Given the description of an element on the screen output the (x, y) to click on. 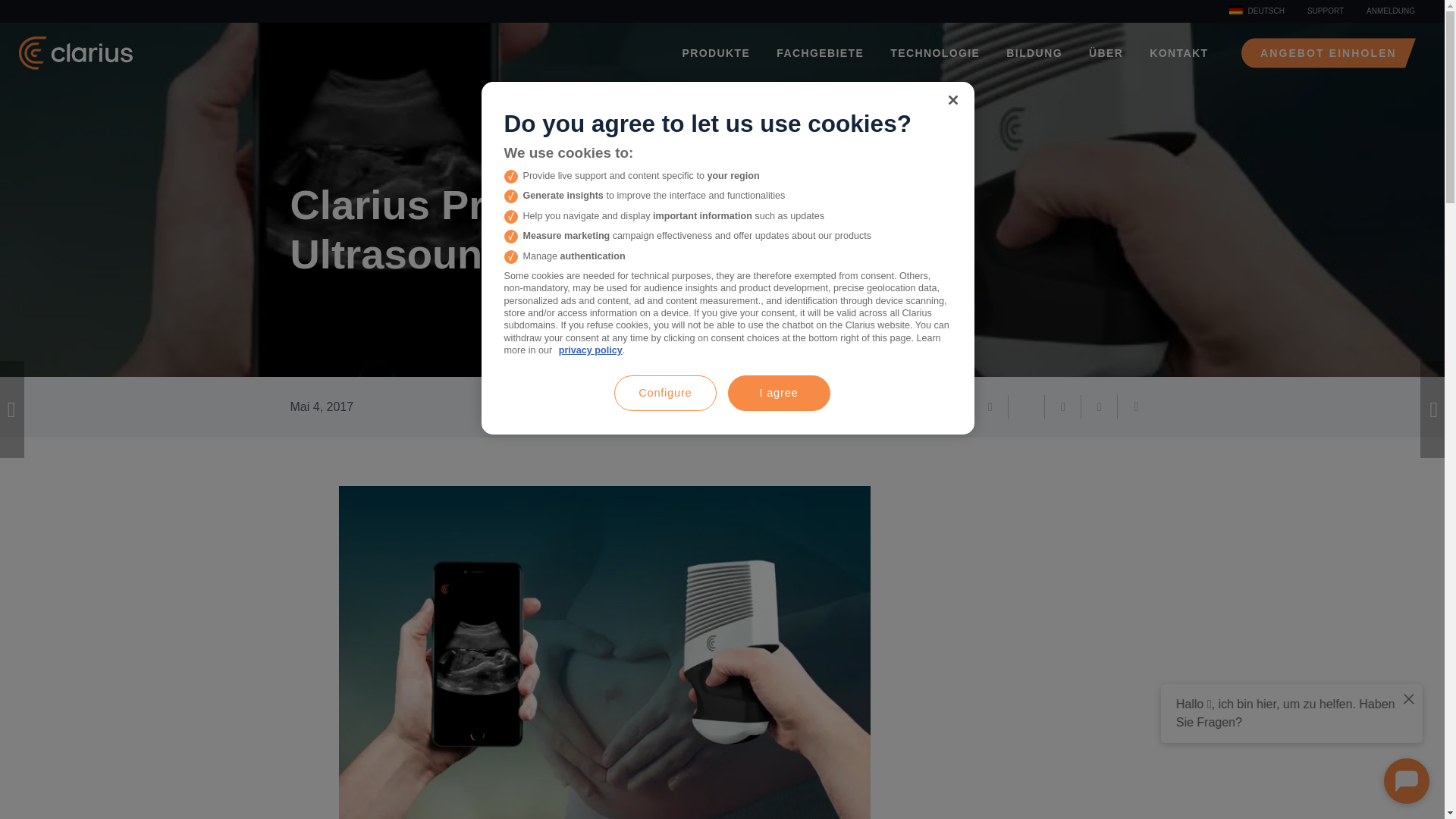
Teile dies (1063, 406)
SUPPORT (1325, 11)
Deutsch (1256, 12)
Teile dies (1136, 406)
E-Mail senden (954, 406)
ANMELDUNG (1390, 11)
Teile dies (990, 406)
DEUTSCH (1256, 12)
PRODUKTE (711, 53)
FACHGEBIETE (814, 53)
Tweete das (1027, 406)
Pin das (1099, 406)
